Given the description of an element on the screen output the (x, y) to click on. 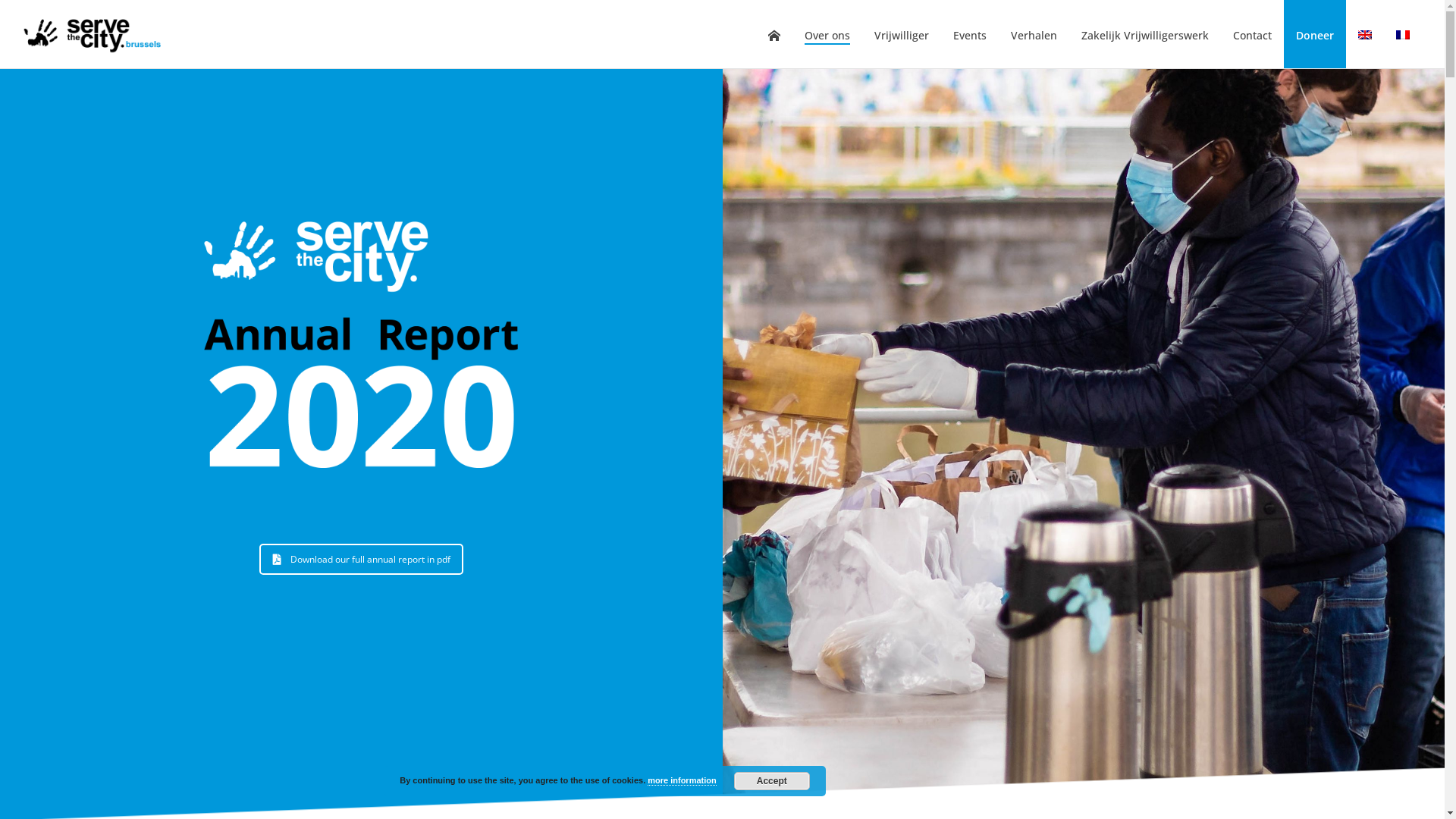
Doneer Element type: text (1314, 35)
Home Element type: text (774, 35)
Vrijwilliger Element type: text (901, 35)
more information Element type: text (681, 780)
Download our full annual report in pdf Element type: text (361, 558)
Contact Element type: text (1251, 35)
Values-based volunteering Element type: hover (93, 34)
Zakelijk Vrijwilligerswerk Element type: text (1144, 35)
Verhalen Element type: text (1033, 35)
report-en-title Element type: hover (360, 344)
Over ons Element type: text (827, 35)
Events Element type: text (969, 35)
Accept Element type: text (771, 780)
